Given the description of an element on the screen output the (x, y) to click on. 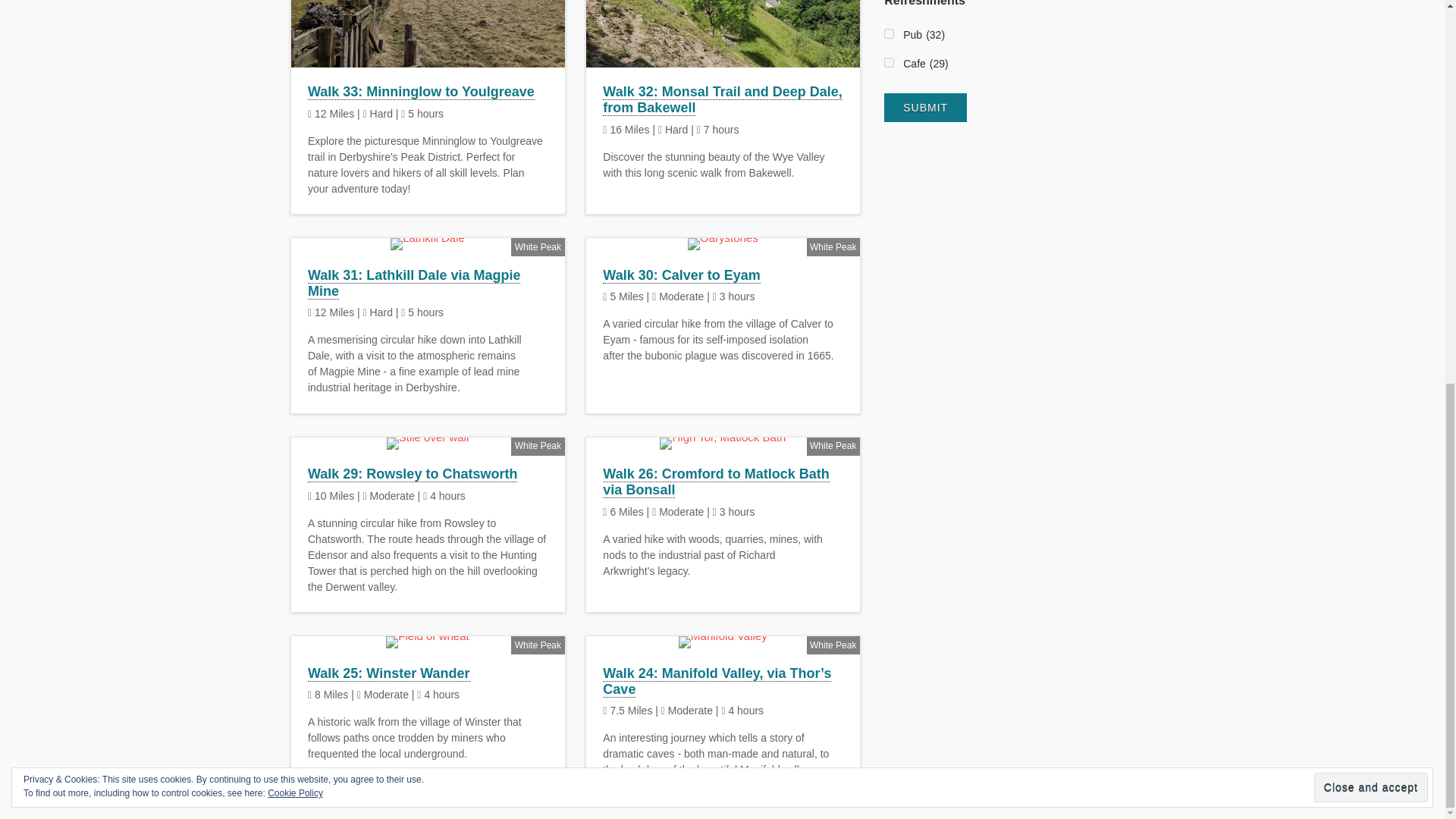
Walk 33: Minninglow to Youlgreave (420, 91)
Walk 30: Calver to Eyam (681, 275)
Walk 32: Monsal Trail and Deep Dale, from Bakewell (721, 100)
Cafe (888, 62)
White Peak (832, 246)
Walk 29: Rowsley to Chatsworth (411, 474)
White Peak (537, 445)
Close and accept (1371, 68)
White Peak (537, 246)
Walk 31: Lathkill Dale via Magpie Mine (413, 283)
Submit (924, 106)
Pub (888, 33)
